Given the description of an element on the screen output the (x, y) to click on. 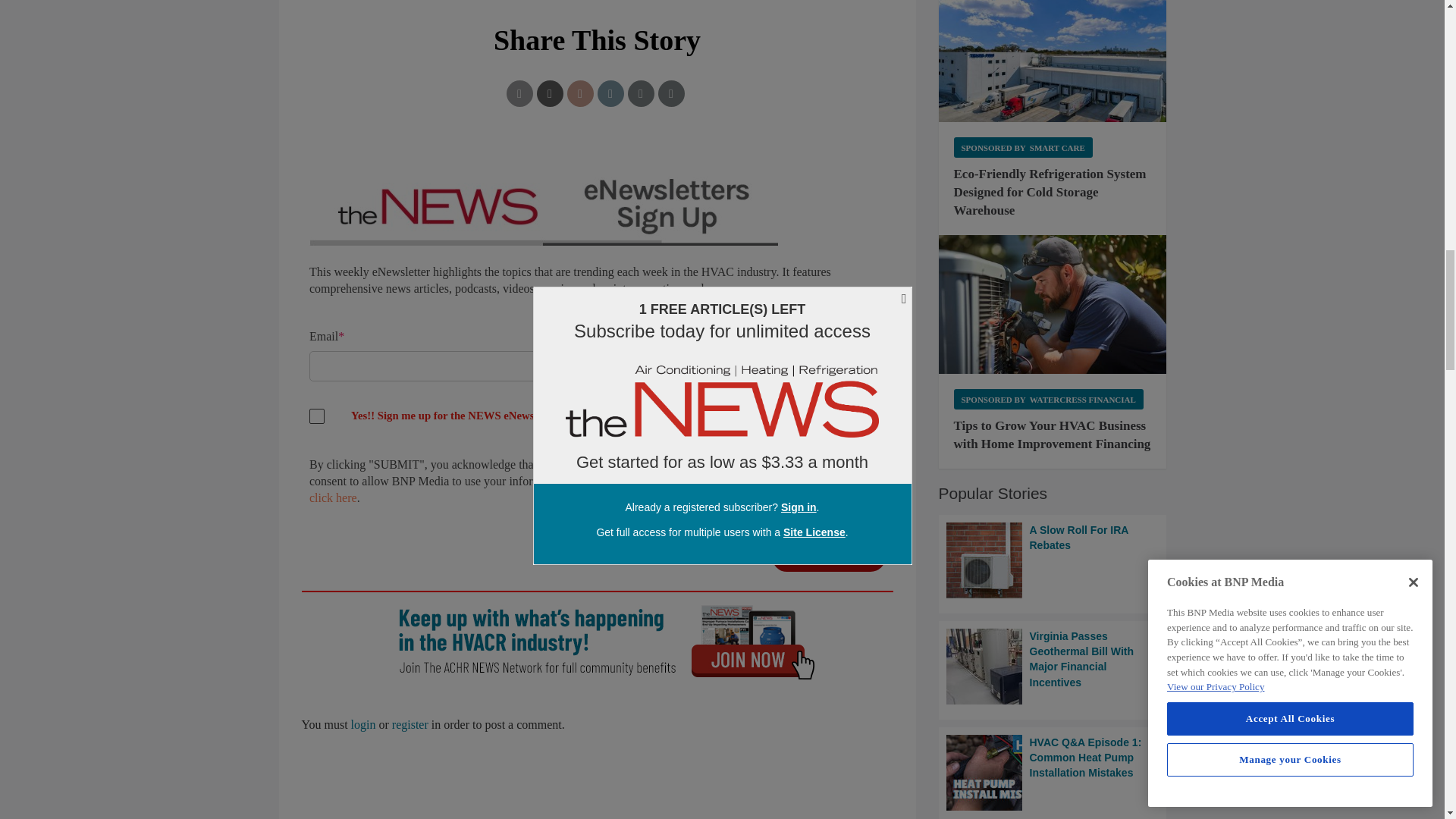
Texas Frio Cold Storage (1052, 61)
Technician Working on HVAC Unit (1052, 304)
A Slow Roll For IRA Rebates (1052, 560)
Sponsored by Smart Care (1023, 147)
Sponsored by Watercress Financial (1047, 399)
